Given the description of an element on the screen output the (x, y) to click on. 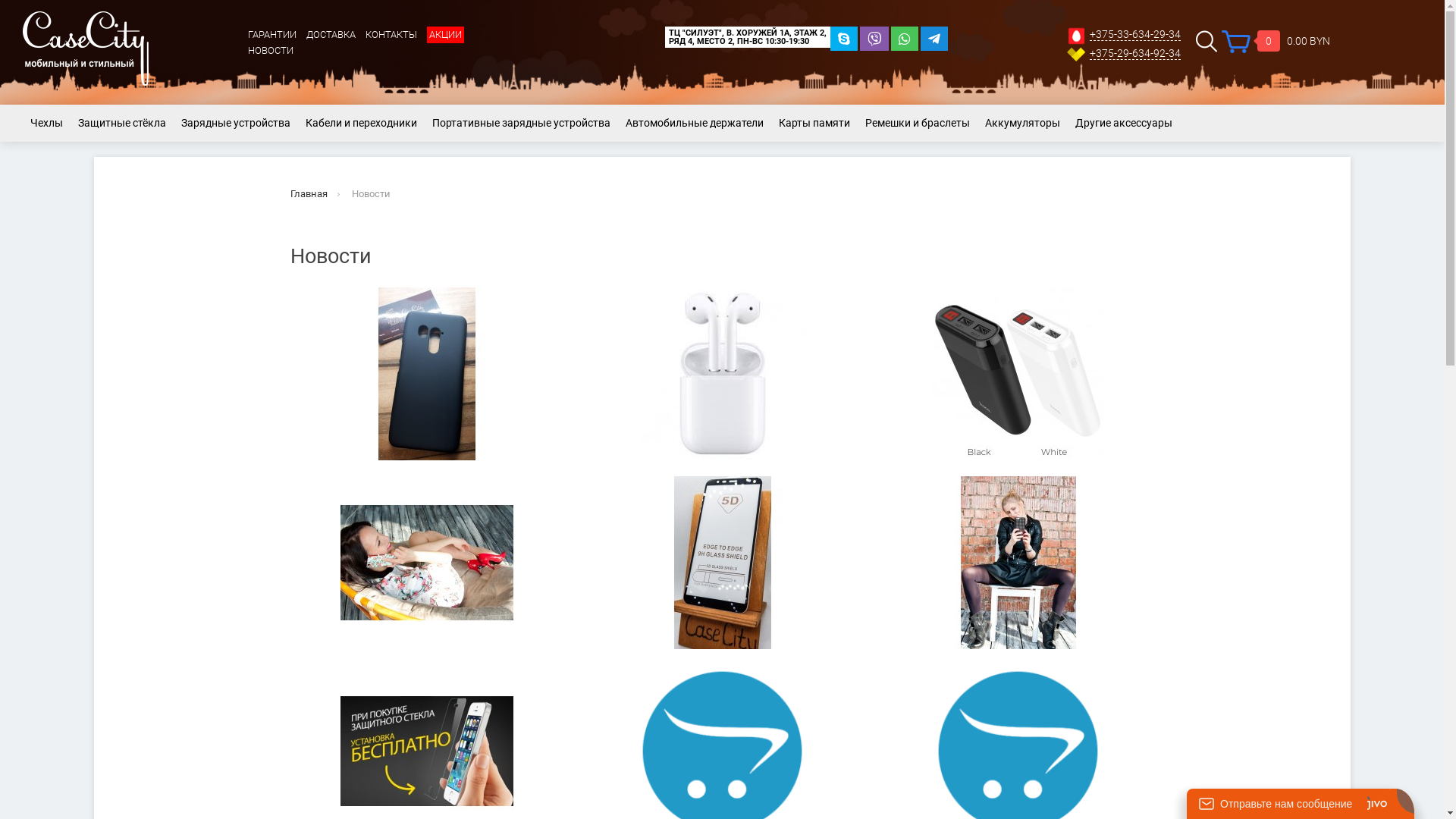
+375-33-634-29-34 Element type: text (1134, 34)
+375-29-634-92-34 Element type: text (1134, 53)
0 0.00 BYN Element type: text (1275, 41)
